Given the description of an element on the screen output the (x, y) to click on. 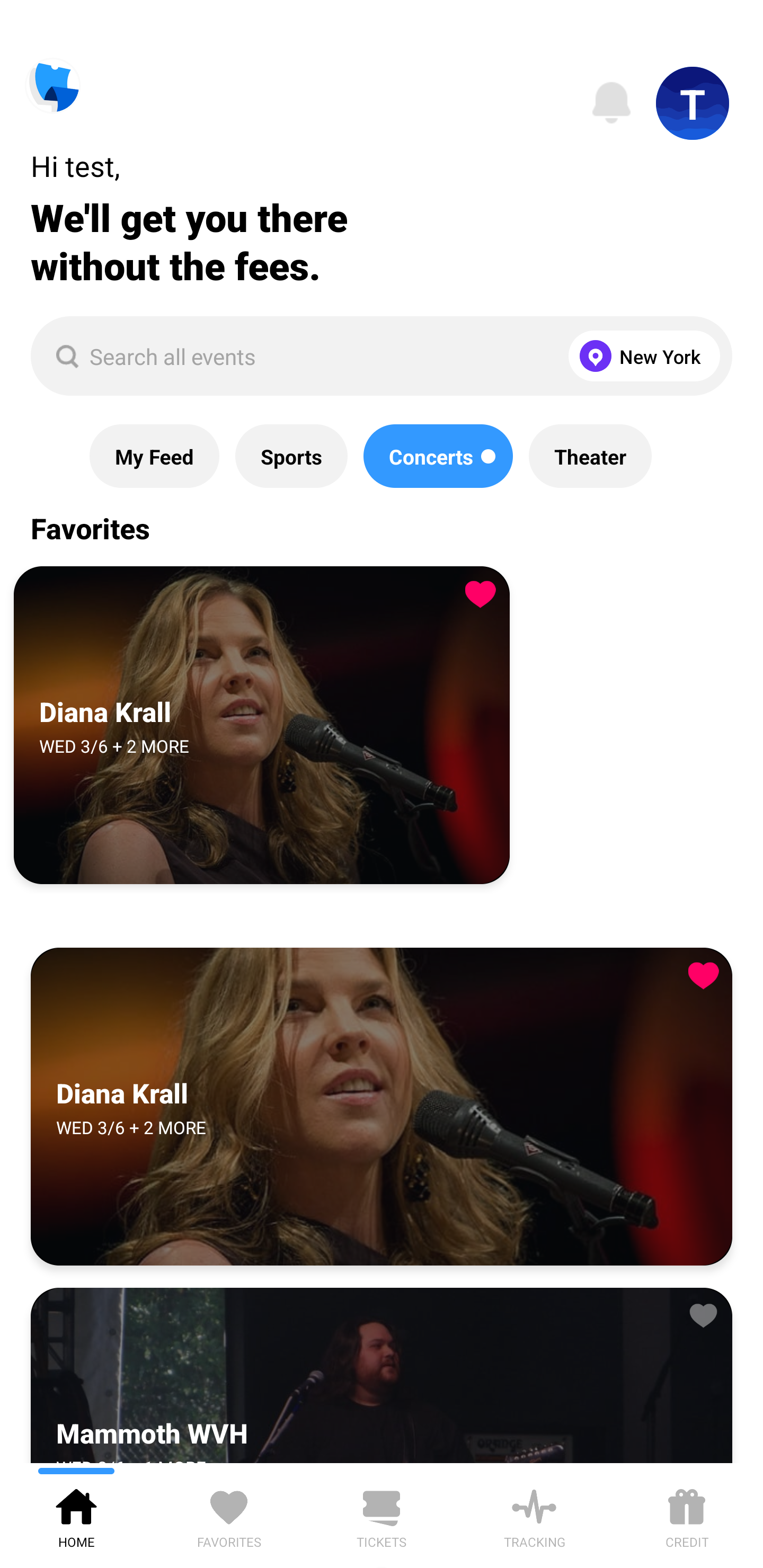
T (692, 103)
New York (640, 355)
My Feed (154, 455)
Sports (291, 455)
Concerts (437, 455)
Theater (589, 455)
HOME (76, 1515)
FAVORITES (228, 1515)
TICKETS (381, 1515)
TRACKING (533, 1515)
CREDIT (686, 1515)
